Given the description of an element on the screen output the (x, y) to click on. 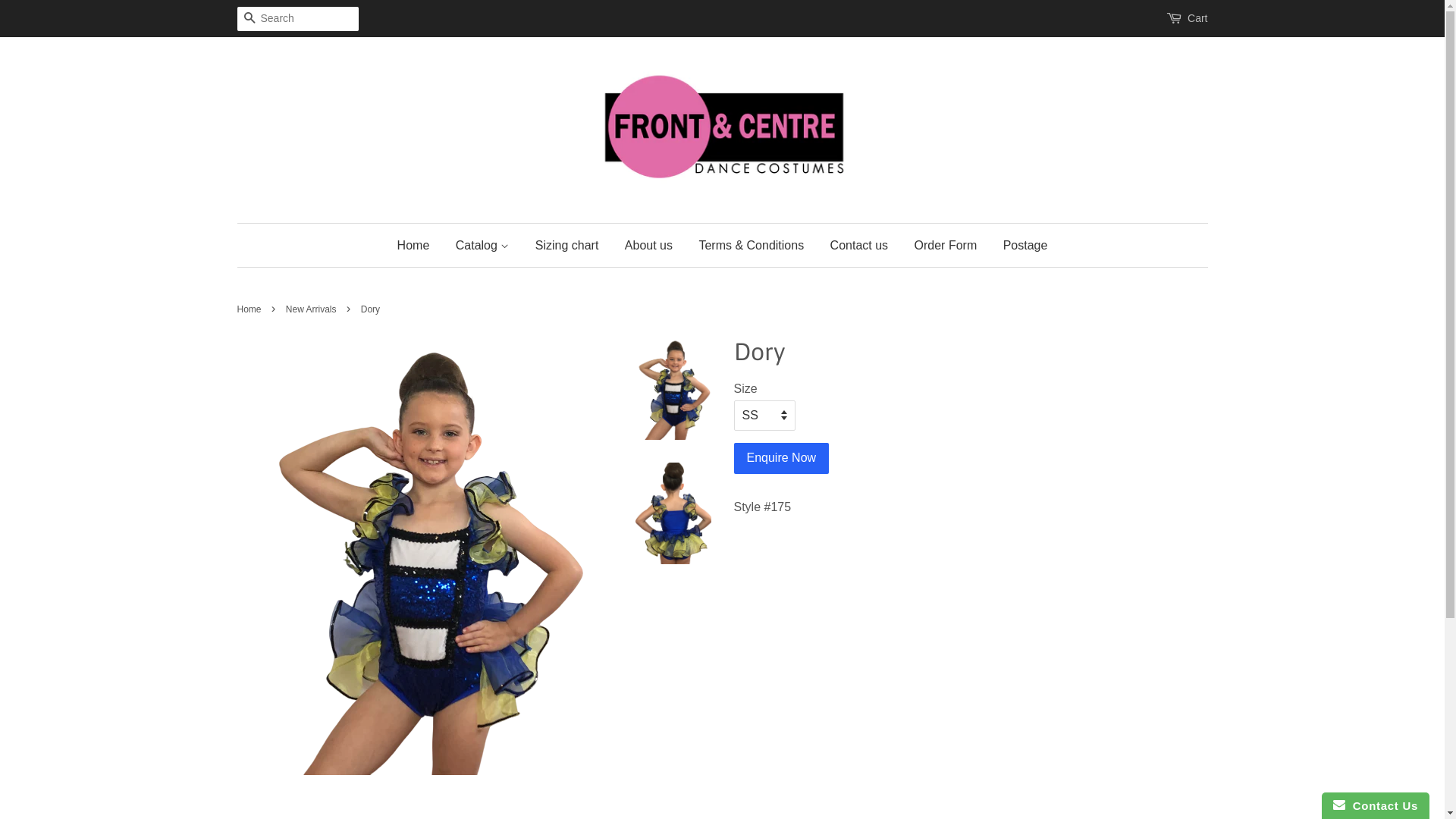
New Arrivals Element type: text (312, 309)
Cart Element type: text (1197, 18)
Contact us Element type: text (859, 244)
Sizing chart Element type: text (567, 244)
About us Element type: text (648, 244)
Search Element type: text (248, 18)
Postage Element type: text (1019, 244)
Order Form Element type: text (945, 244)
Catalog Element type: text (482, 244)
Home Element type: text (250, 309)
Home Element type: text (419, 244)
Terms & Conditions Element type: text (751, 244)
Enquire Now Element type: text (781, 457)
